Given the description of an element on the screen output the (x, y) to click on. 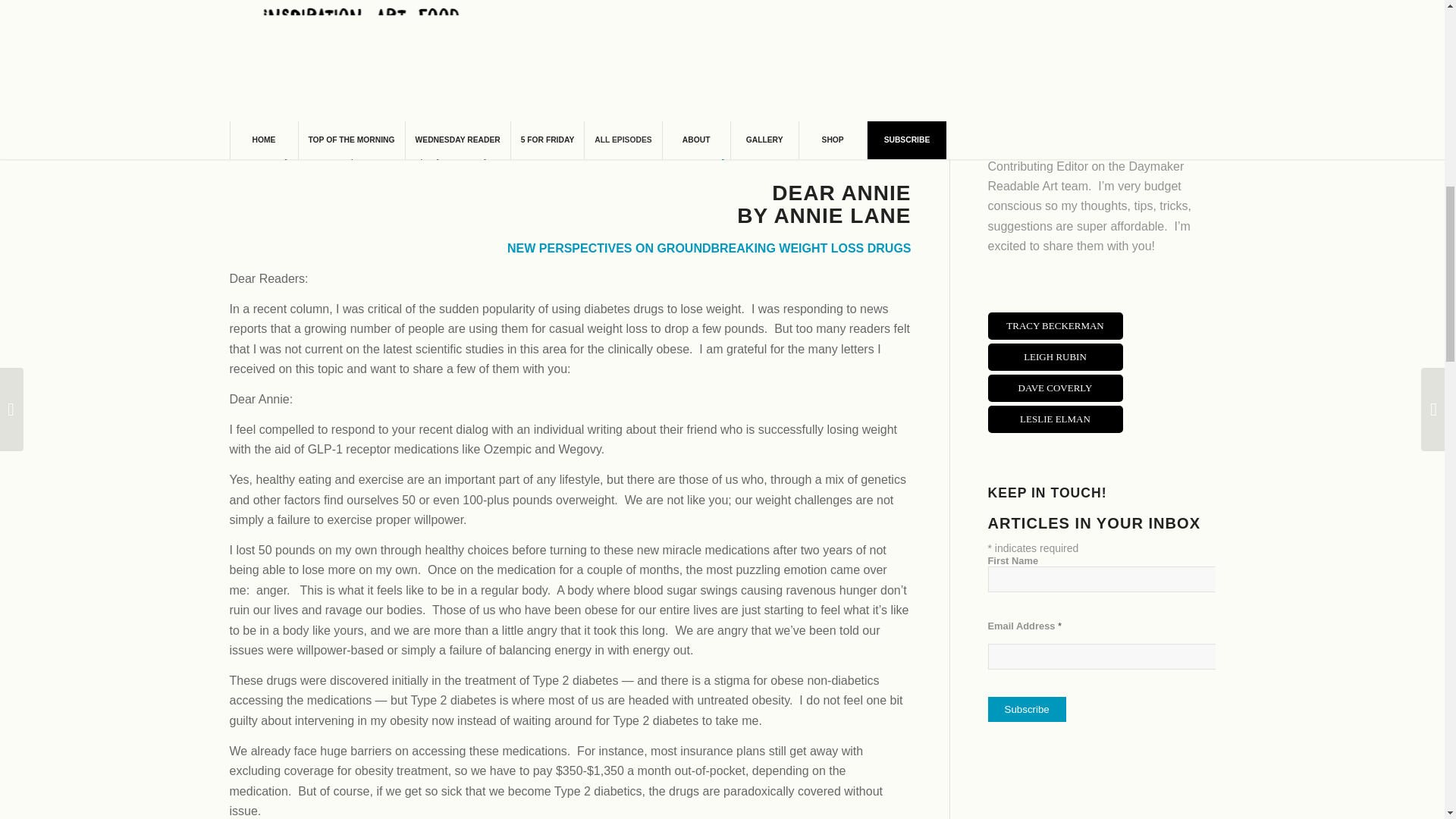
List of said weirdest cars of all time (341, 103)
habits of people who are effortlessly likeable (365, 6)
DAVE COVERLY (1054, 388)
Subscribe (1026, 708)
TRACY BECKERMAN (1054, 324)
TRACY BECKERMAN (1054, 325)
LEIGH RUBIN (1054, 357)
DAVE COVERLY (1054, 386)
Go on an adventure without leaving home! (363, 128)
LEIGH RUBIN (1054, 355)
